Given the description of an element on the screen output the (x, y) to click on. 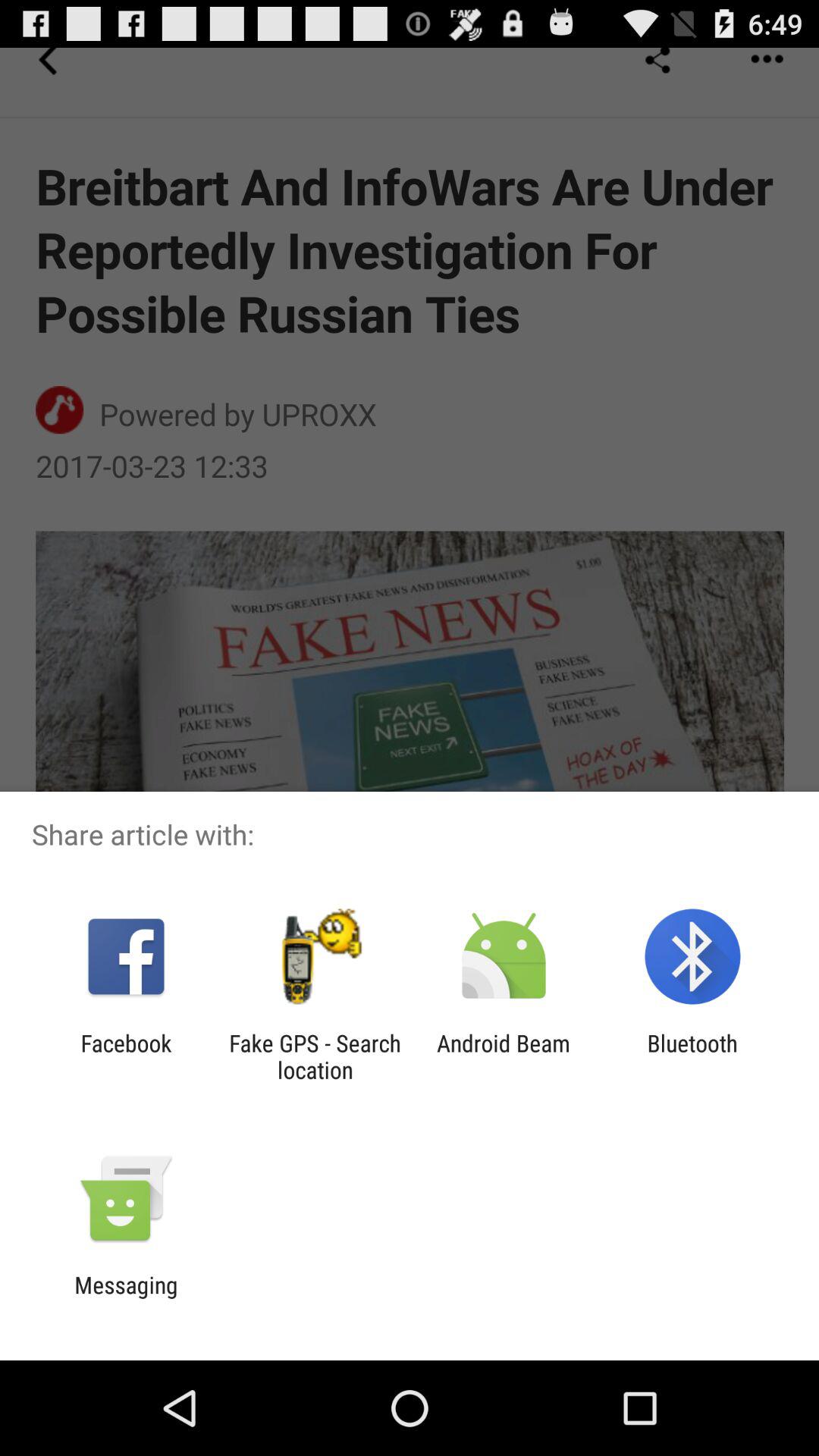
scroll to the facebook item (125, 1056)
